Given the description of an element on the screen output the (x, y) to click on. 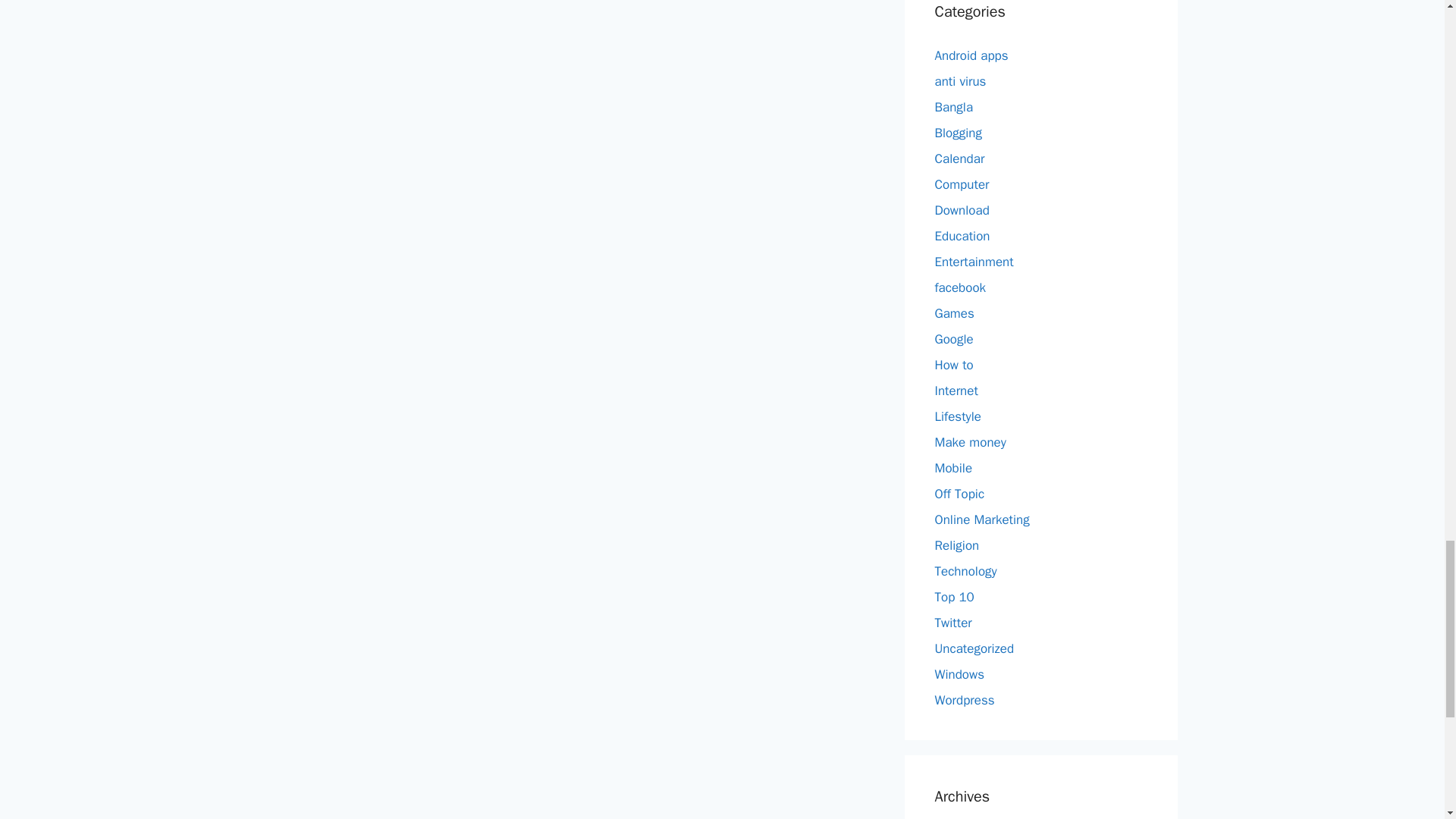
anti virus (959, 80)
Android apps (970, 54)
Bangla (953, 106)
